Given the description of an element on the screen output the (x, y) to click on. 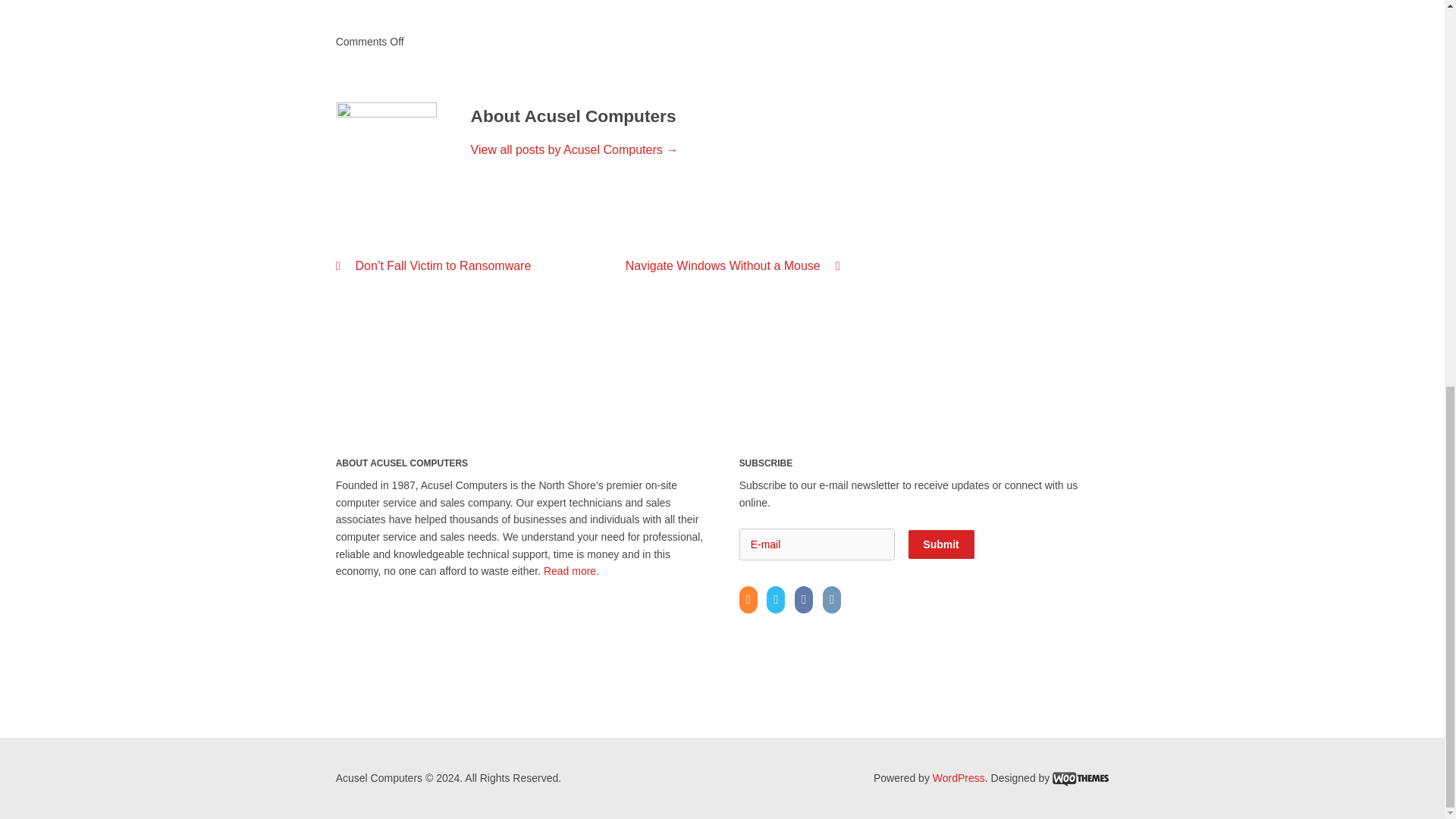
Navigate Windows Without a Mouse (733, 265)
Instagram (834, 599)
Read more (569, 571)
Submit (941, 544)
E-mail (817, 544)
Submit (941, 544)
Twitter (779, 599)
RSS (751, 599)
WordPress (959, 777)
Facebook (806, 599)
